Given the description of an element on the screen output the (x, y) to click on. 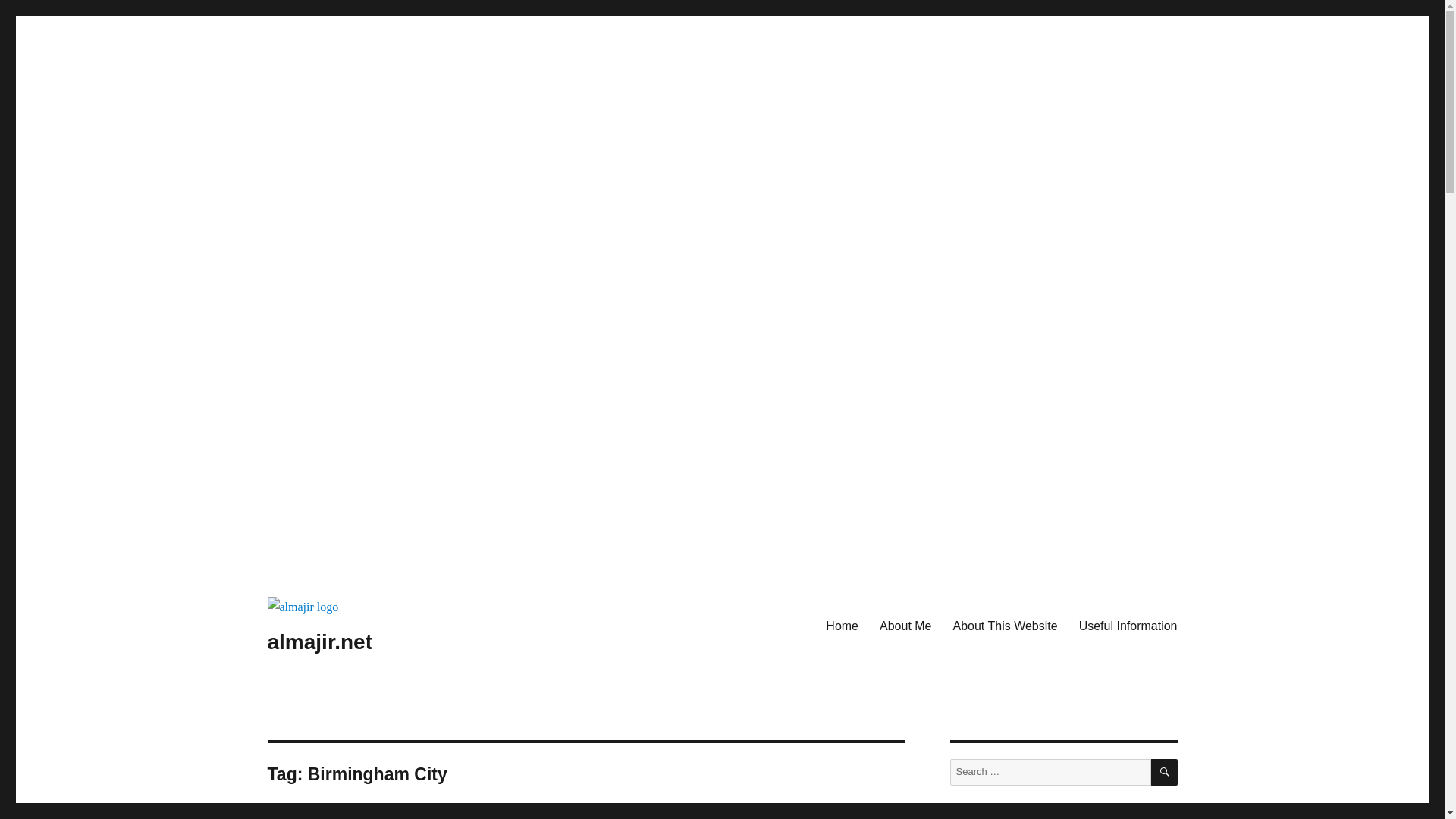
About This Website (1004, 625)
Useful Information (1128, 625)
Home (842, 625)
SEARCH (1164, 772)
About Me (905, 625)
almajir.net (319, 641)
